Given the description of an element on the screen output the (x, y) to click on. 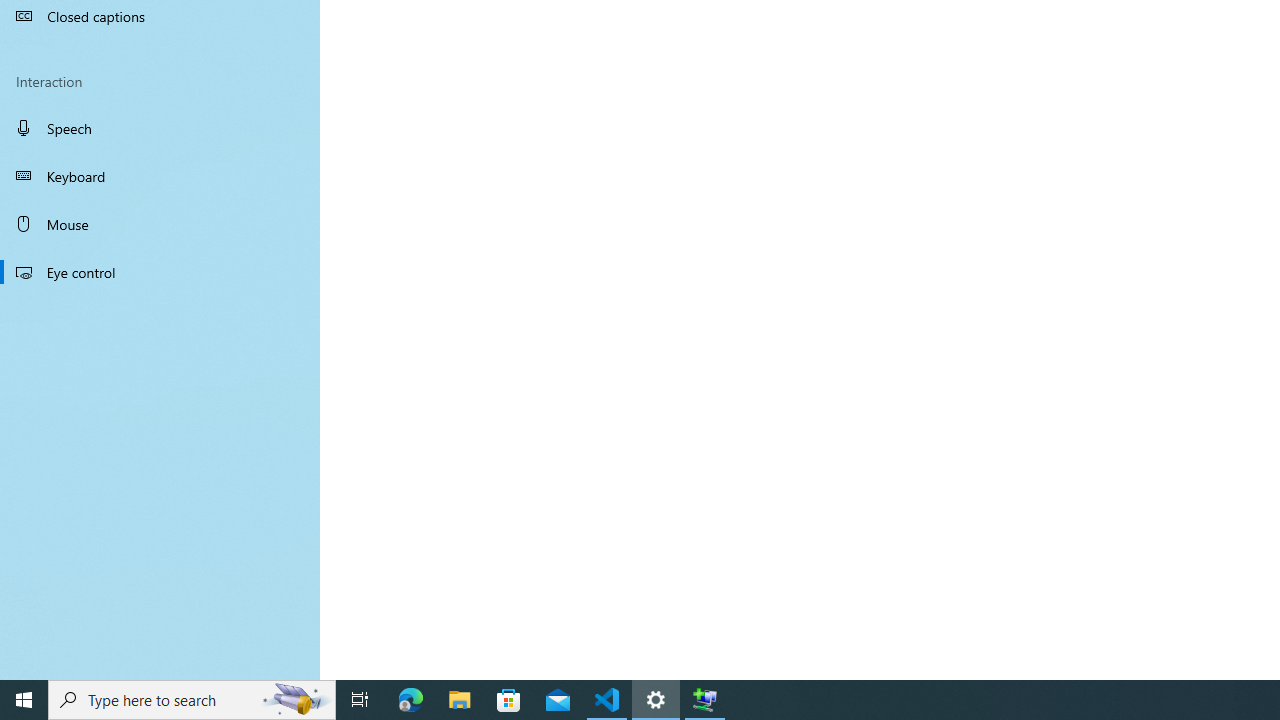
Settings - 1 running window (656, 699)
Mouse (160, 223)
Keyboard (160, 175)
Speech (160, 127)
Extensible Wizards Host Process - 1 running window (704, 699)
Eye control (160, 271)
